Given the description of an element on the screen output the (x, y) to click on. 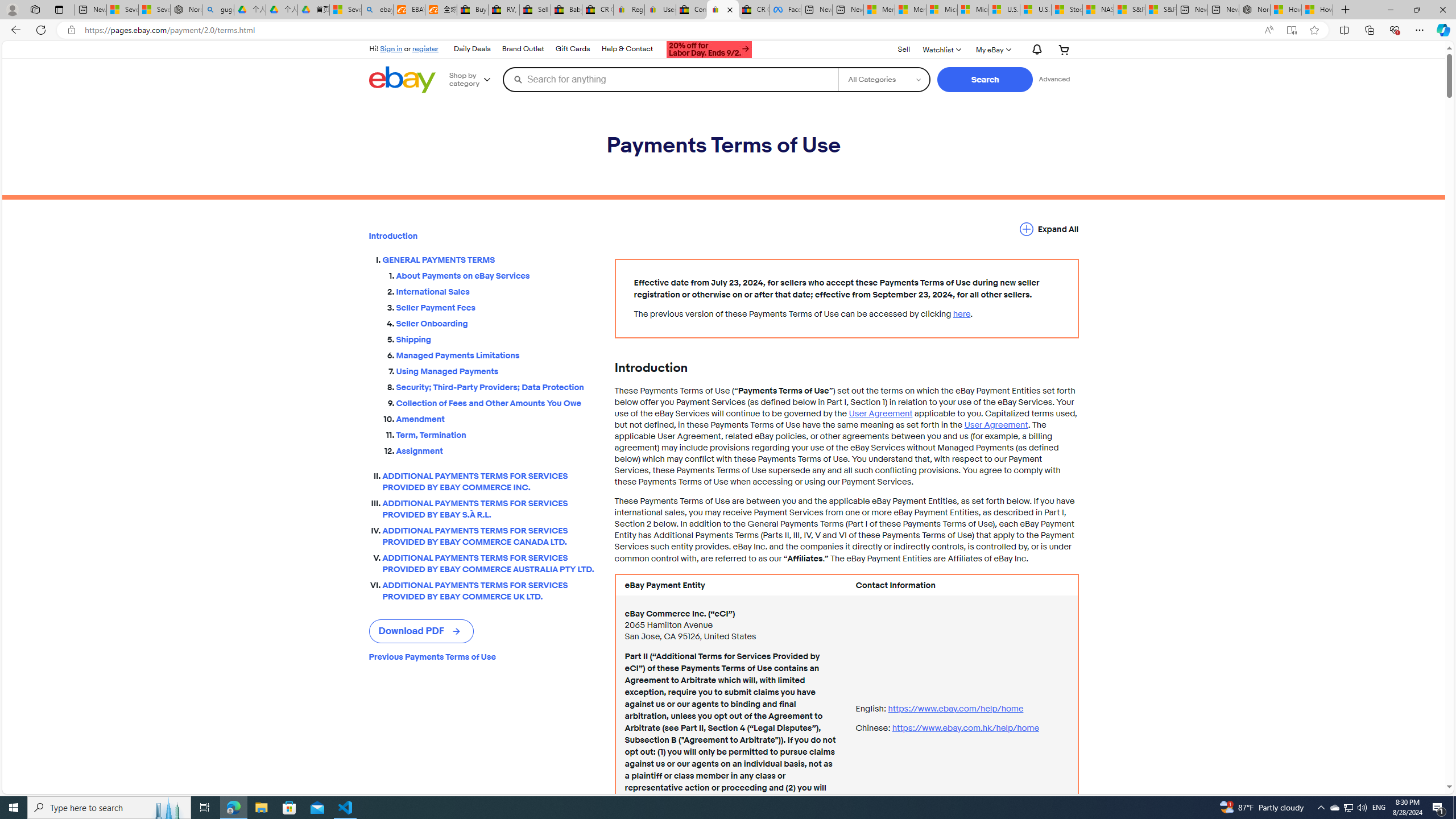
Sell (904, 49)
Using Managed Payments (496, 369)
Collection of Fees and Other Amounts You Owe (496, 403)
Advanced Search (1053, 78)
Class: ski-btn__arrow (456, 631)
https://www.ebay.com/ help/home (955, 708)
WatchlistExpand Watch List (940, 49)
